Given the description of an element on the screen output the (x, y) to click on. 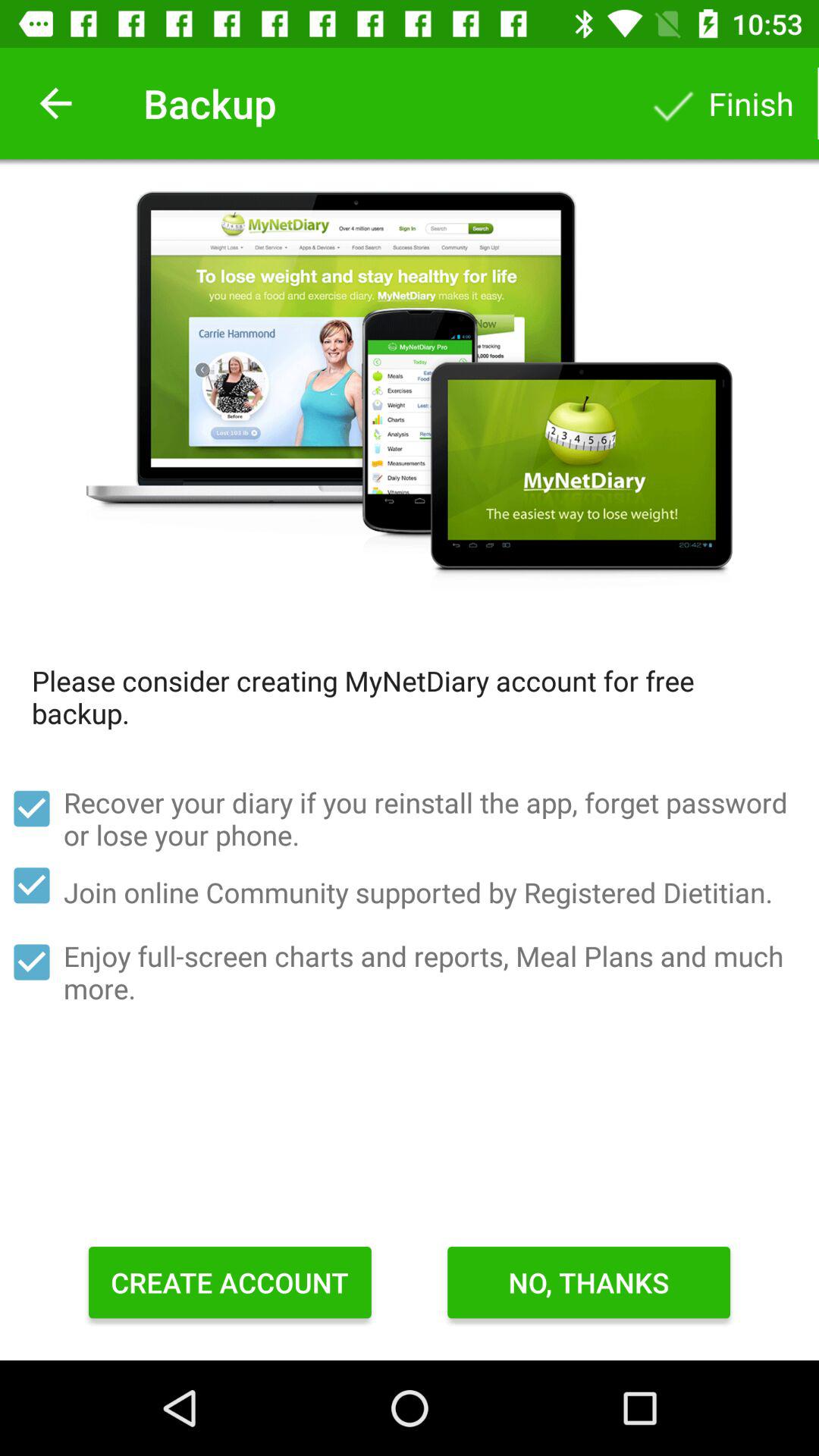
open icon next to create account icon (588, 1282)
